Given the description of an element on the screen output the (x, y) to click on. 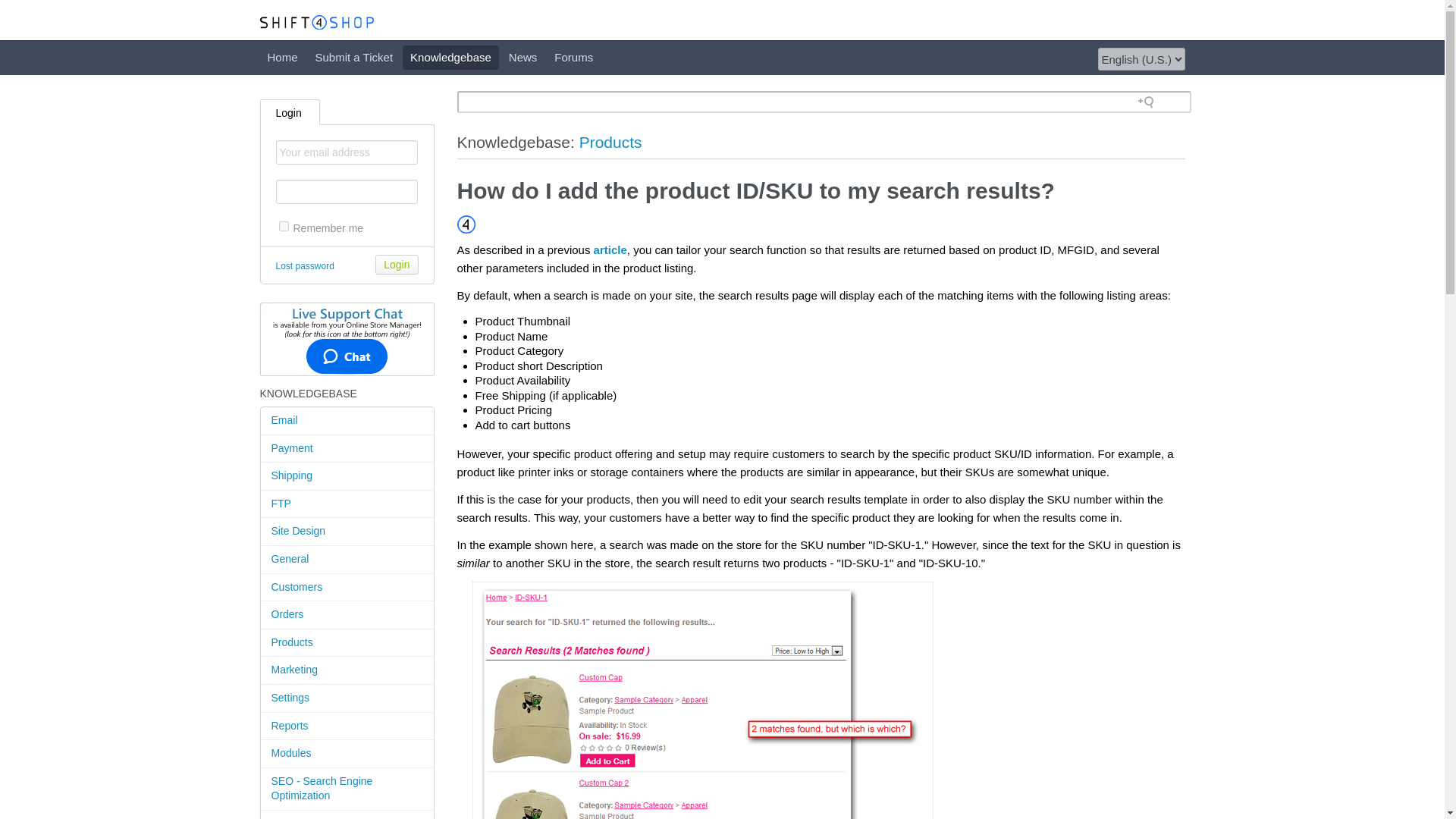
1 (283, 225)
Settings (346, 698)
Home (281, 57)
News (522, 57)
Shipping (346, 476)
General (346, 560)
Products (346, 643)
Modules (346, 754)
article (610, 249)
Login (396, 264)
